Given the description of an element on the screen output the (x, y) to click on. 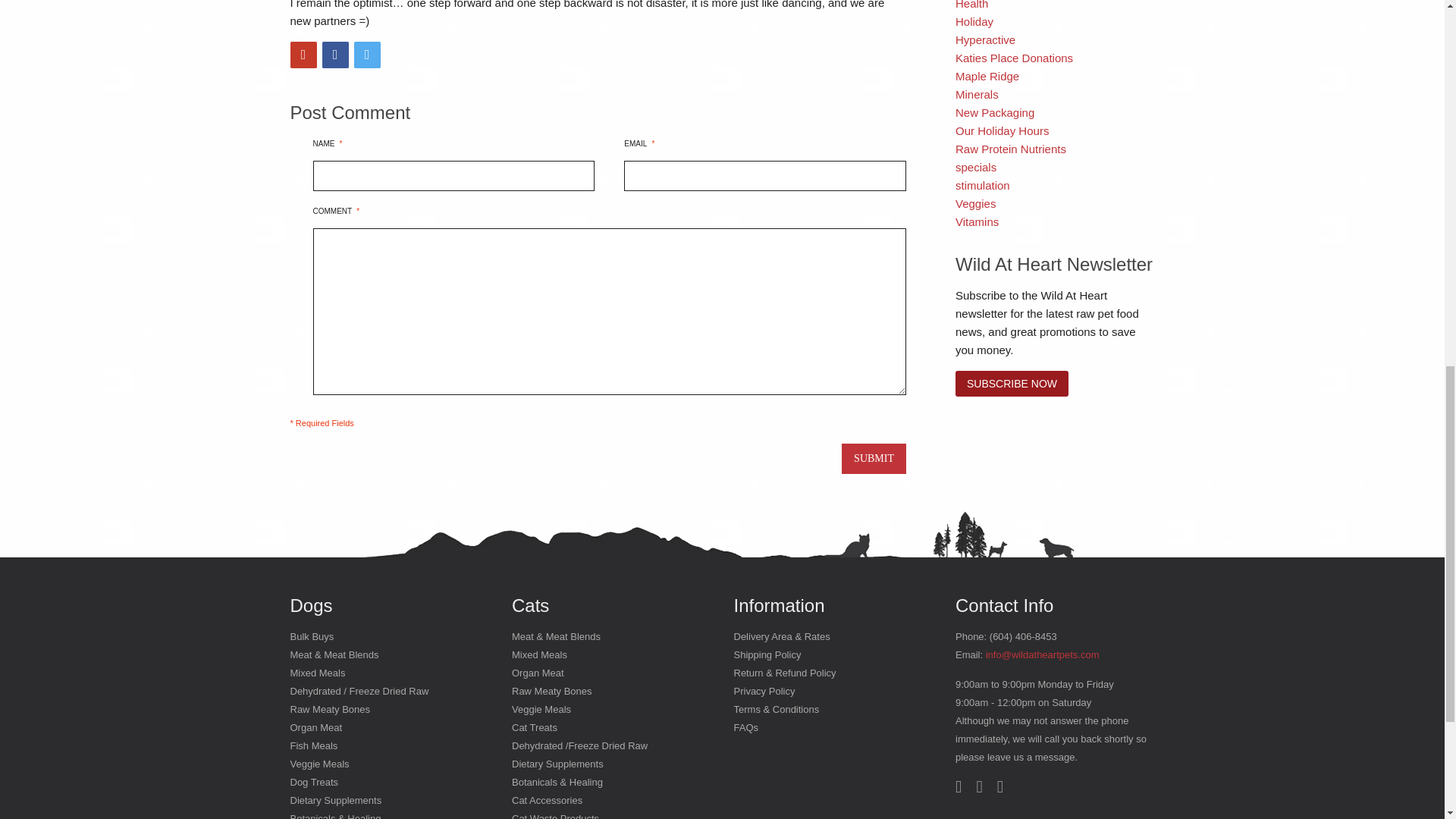
Show articles tagged Maple Ridge (987, 75)
Comment (609, 311)
Name (453, 175)
Show articles tagged Hyperactive (984, 39)
Show articles tagged Katies Place Donations (1014, 57)
Show articles tagged Health (971, 4)
Email (764, 175)
Show articles tagged Holiday (973, 21)
